Given the description of an element on the screen output the (x, y) to click on. 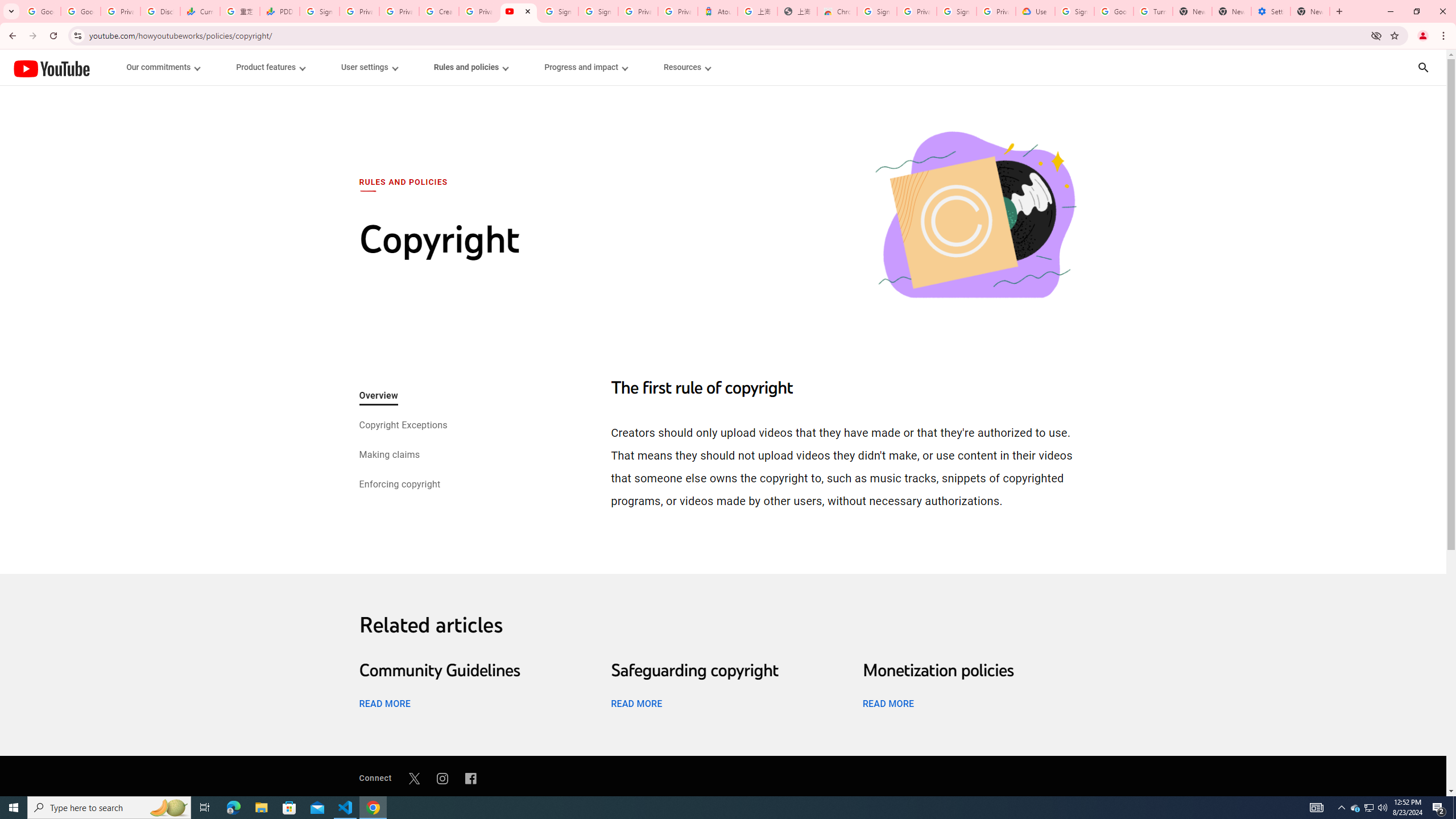
How YouTube Works (51, 66)
Rules and policies menupopup (470, 67)
Twitter (413, 778)
JUMP TO CONTENT (118, 67)
Instagram (442, 778)
Create your Google Account (438, 11)
Sign in - Google Accounts (956, 11)
